Given the description of an element on the screen output the (x, y) to click on. 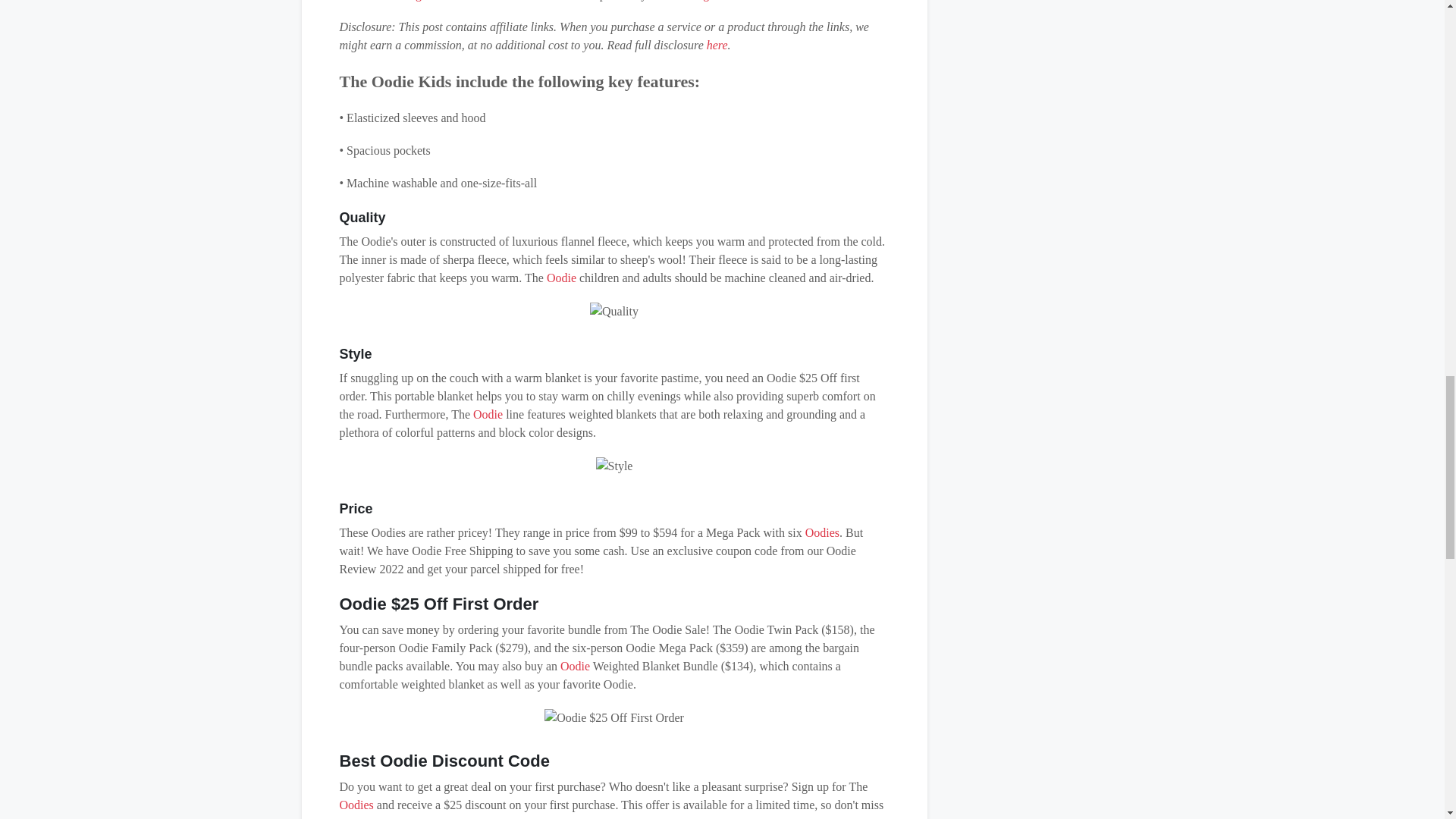
Oodie (487, 413)
Oodie (561, 277)
here (717, 44)
Oodies (356, 804)
Oodies (822, 532)
odie (580, 666)
